Given the description of an element on the screen output the (x, y) to click on. 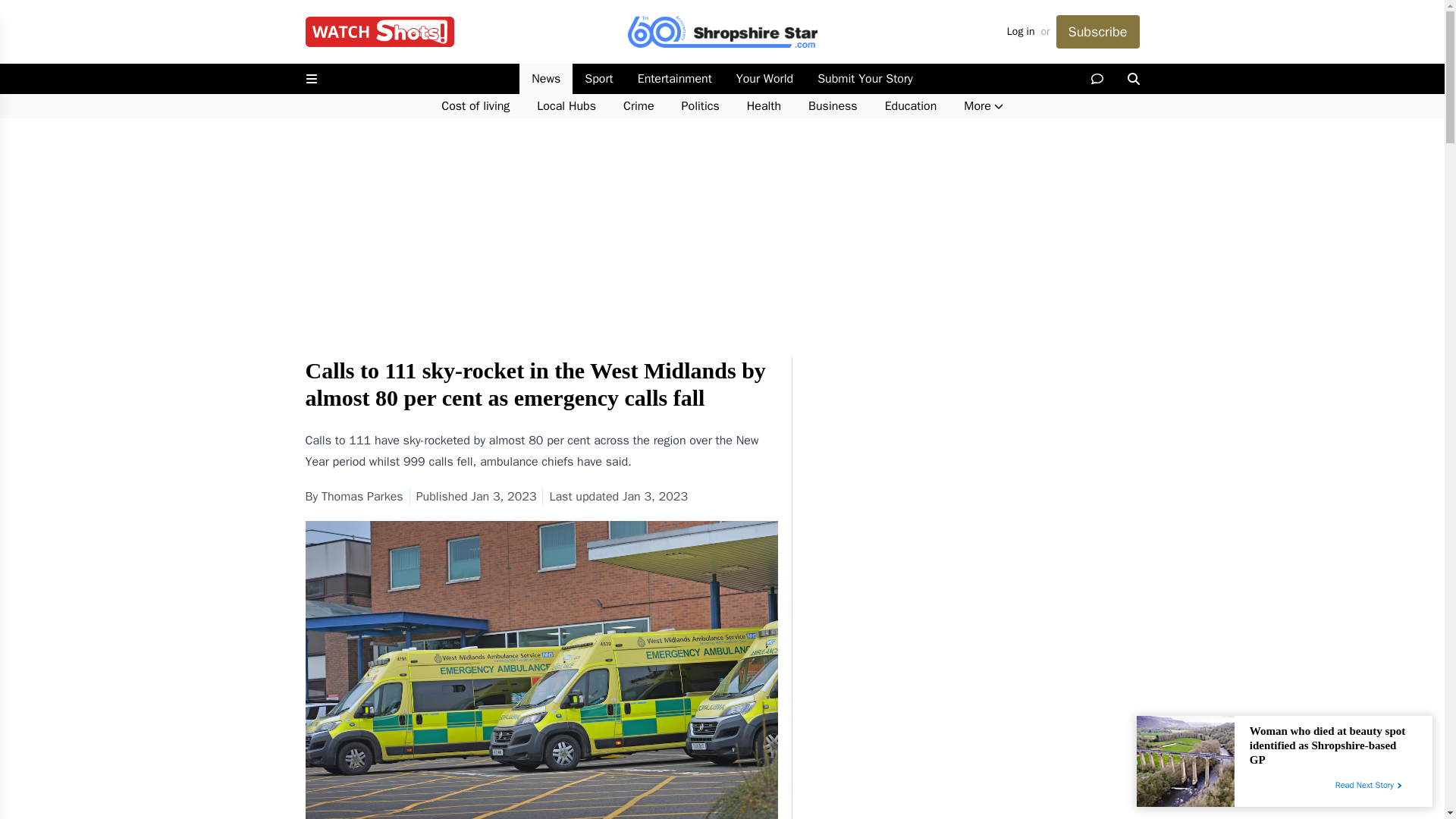
Business (832, 105)
News (545, 78)
Local Hubs (566, 105)
Submit Your Story (864, 78)
Education (910, 105)
Entertainment (674, 78)
Sport (598, 78)
Subscribe (1096, 31)
Health (764, 105)
Politics (700, 105)
Crime (638, 105)
More (983, 105)
Log in (1021, 31)
Your World (764, 78)
